Given the description of an element on the screen output the (x, y) to click on. 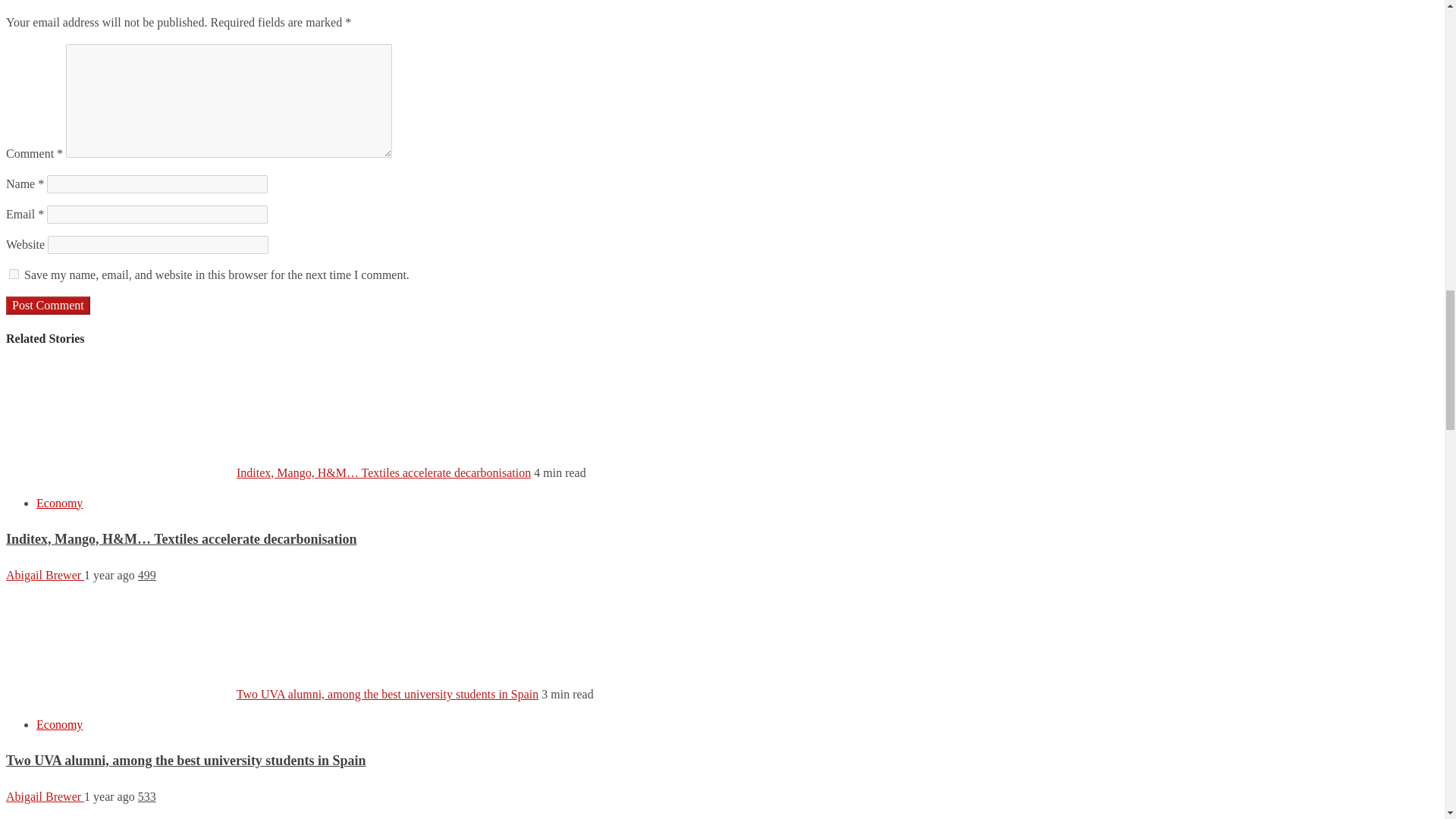
Post Comment (47, 305)
Economy (59, 724)
Economy (59, 502)
yes (13, 274)
Abigail Brewer (44, 796)
Abigail Brewer (44, 574)
Two UVA alumni, among the best university students in Spain (386, 694)
Post Comment (47, 305)
Two UVA alumni, among the best university students in Spain (185, 760)
499 (146, 574)
